Given the description of an element on the screen output the (x, y) to click on. 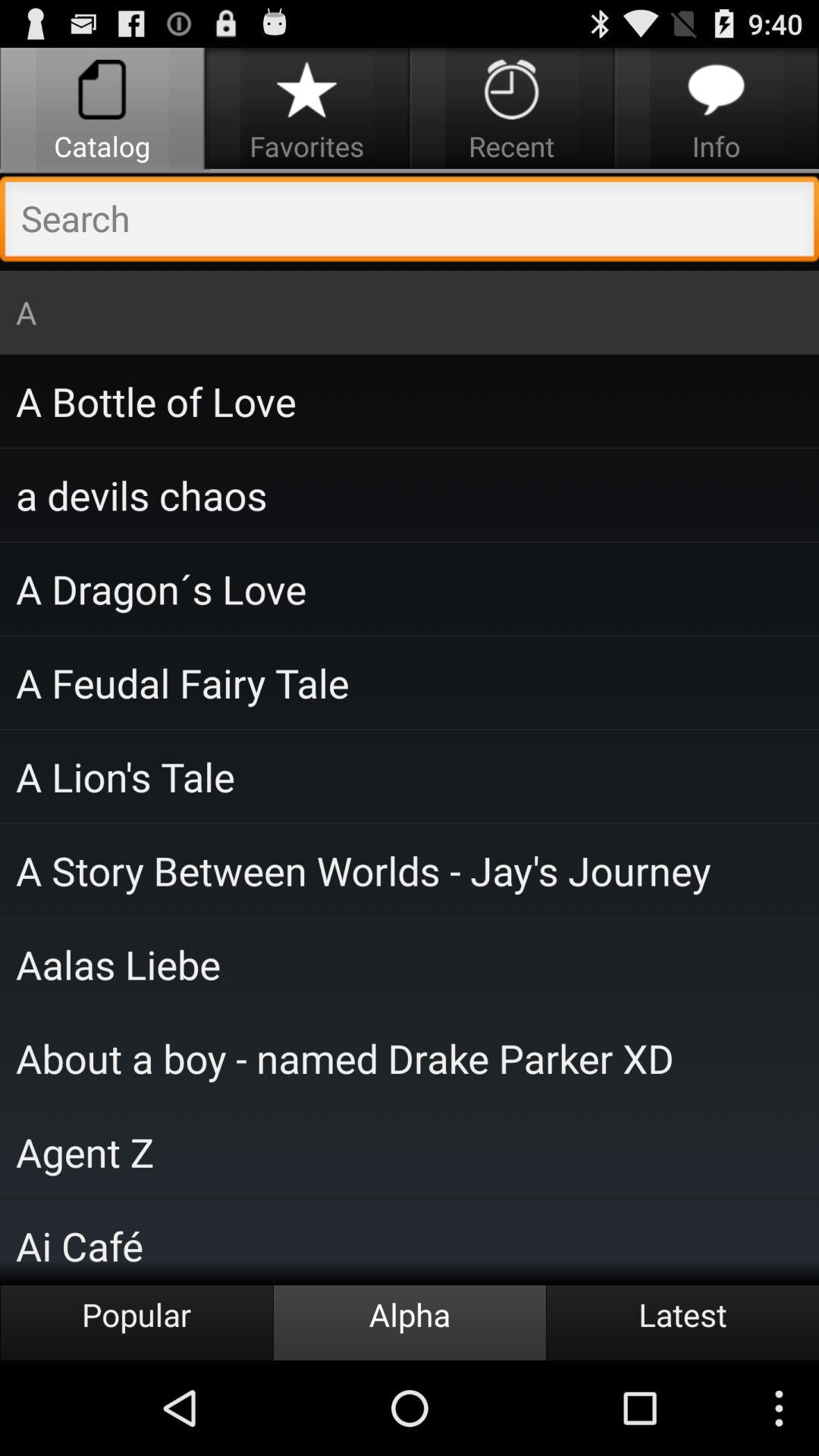
swipe to agent z icon (409, 1151)
